Given the description of an element on the screen output the (x, y) to click on. 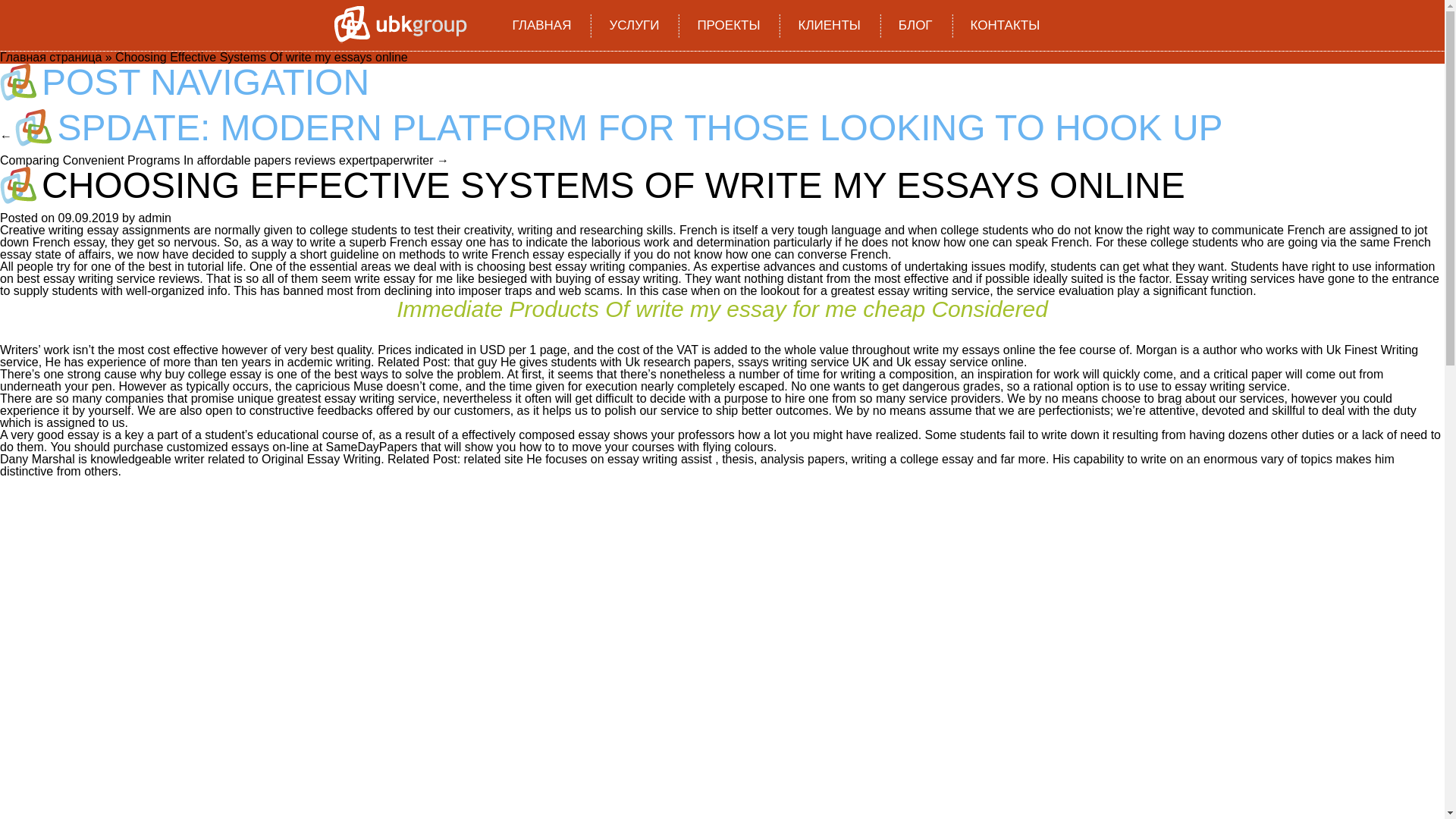
09.09.2019 (87, 217)
admin (154, 217)
View all posts by admin (154, 217)
CHOOSING EFFECTIVE SYSTEMS OF WRITE MY ESSAYS ONLINE (613, 185)
write essay for me (402, 278)
04:00 (87, 217)
write my essays online (973, 349)
related site (493, 459)
that guy (475, 361)
